Given the description of an element on the screen output the (x, y) to click on. 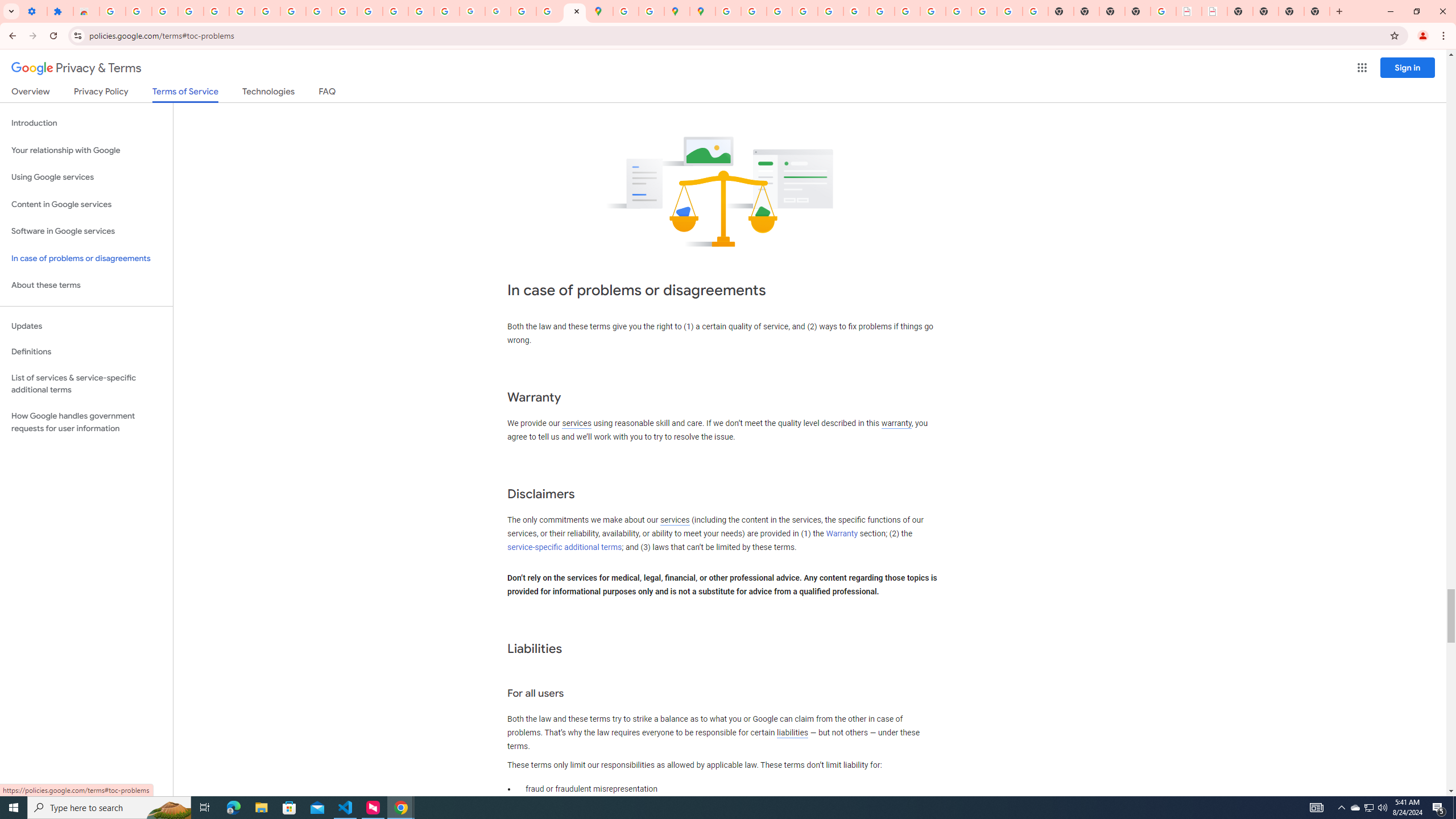
New Tab (1137, 11)
service-specific additional terms (563, 547)
Delete photos & videos - Computer - Google Photos Help (165, 11)
Settings - On startup (34, 11)
